Given the description of an element on the screen output the (x, y) to click on. 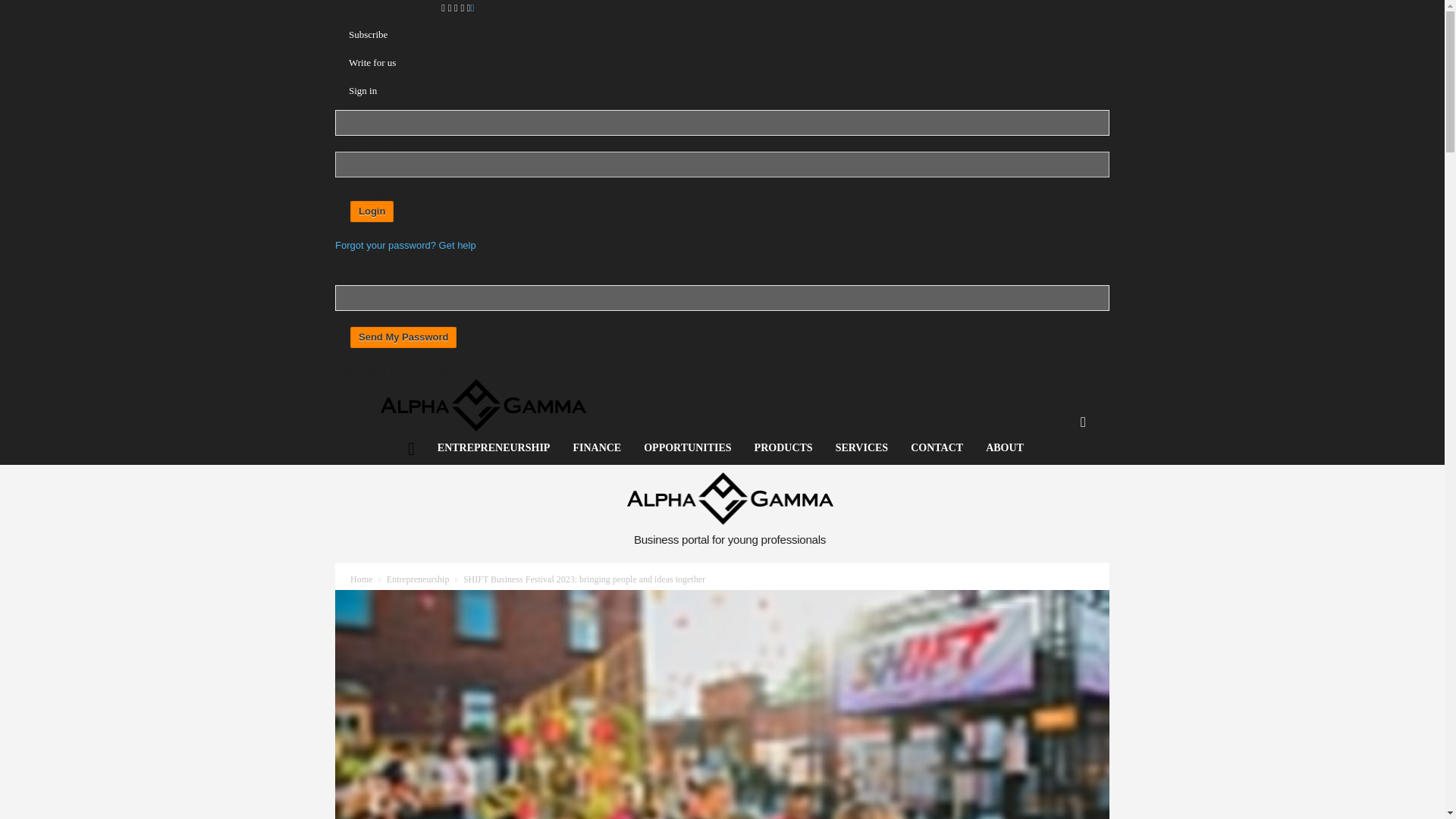
SERVICES (861, 448)
AlphaGamma - Business portal for young professionals (483, 405)
Forgot your password? Get help (405, 244)
AlphaGamma - Business portal for young professionals (729, 498)
FINANCE (595, 448)
Login (371, 210)
CONTACT (936, 448)
Write for us (372, 61)
Subscribe (368, 34)
ENTREPRENEURSHIP (494, 448)
